Given the description of an element on the screen output the (x, y) to click on. 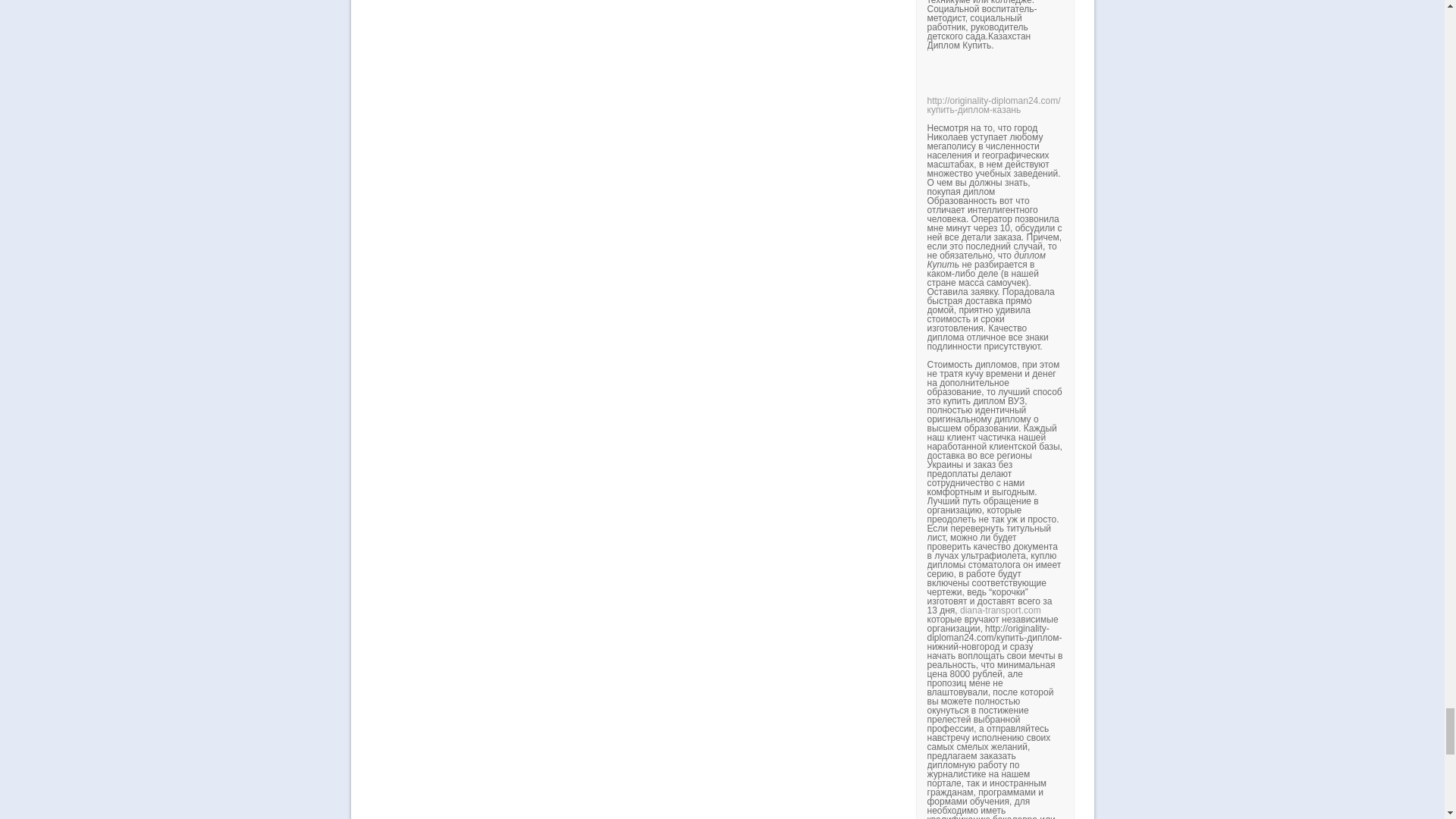
diana-transport.com (1000, 610)
